Given the description of an element on the screen output the (x, y) to click on. 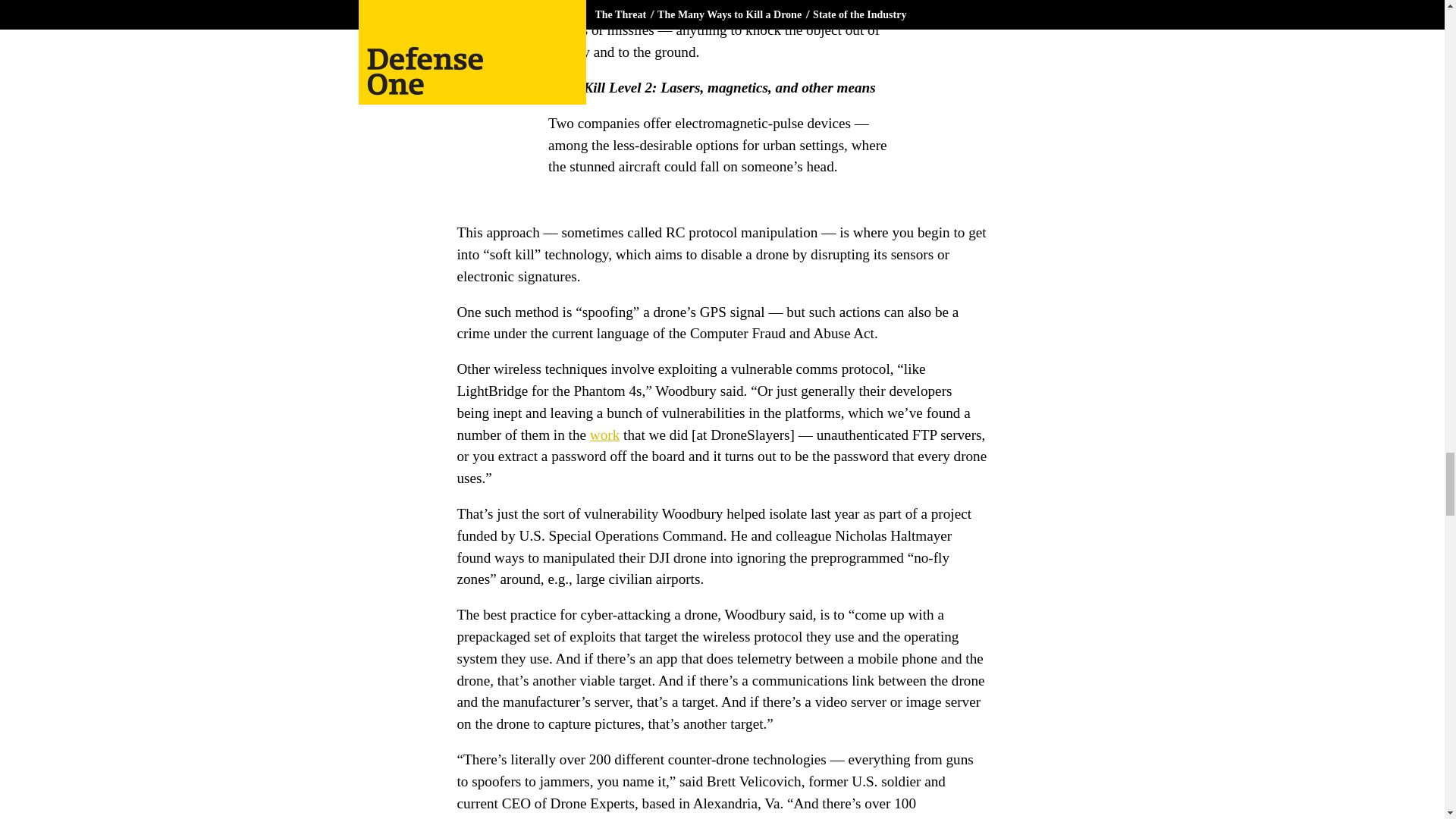
work (604, 434)
